Given the description of an element on the screen output the (x, y) to click on. 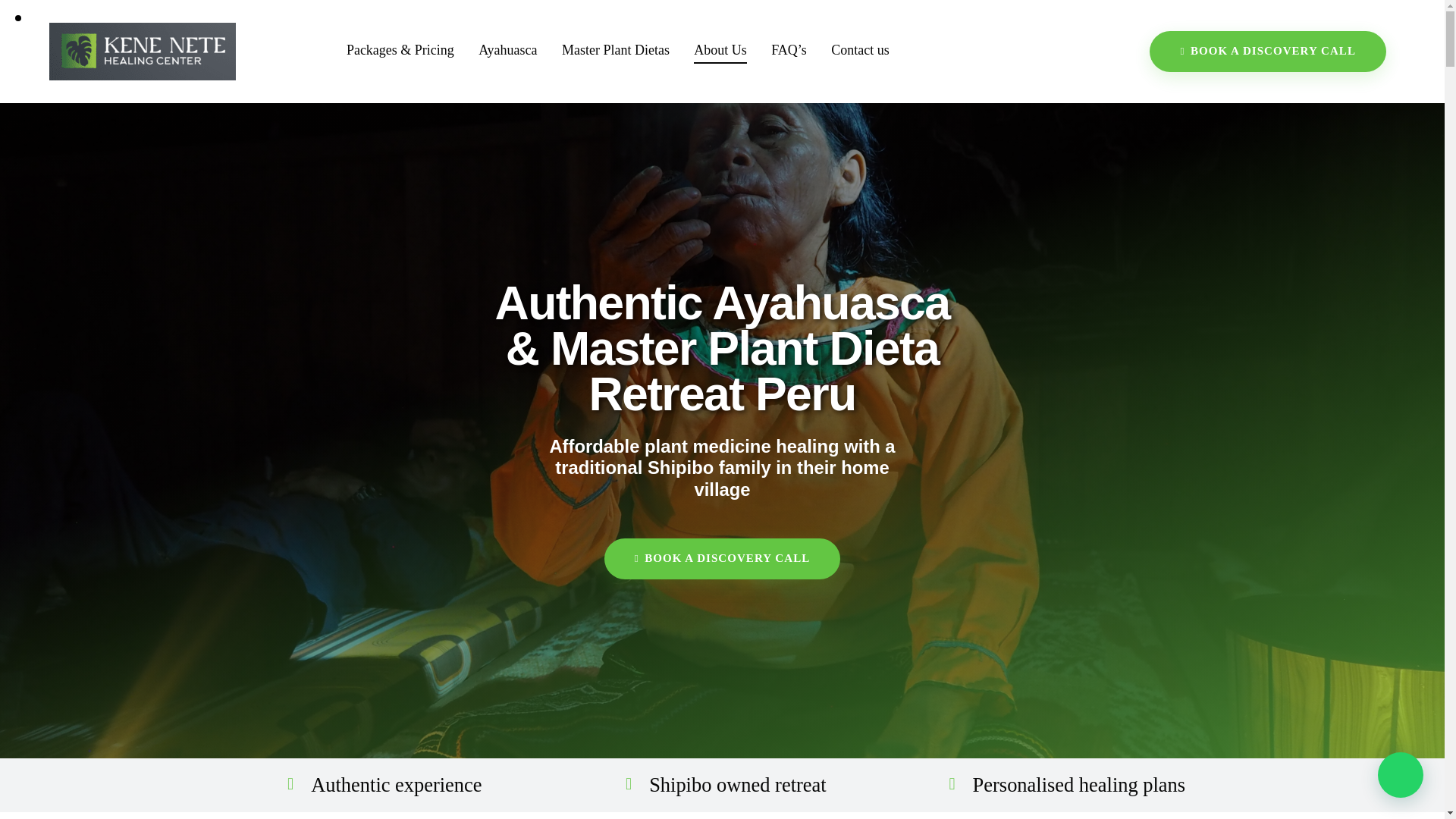
Ayahuasca (507, 50)
About Us (719, 50)
BOOK A DISCOVERY CALL (1260, 51)
Master Plant Dietas (615, 50)
Contact us (859, 50)
BOOK A DISCOVERY CALL (722, 558)
